Given the description of an element on the screen output the (x, y) to click on. 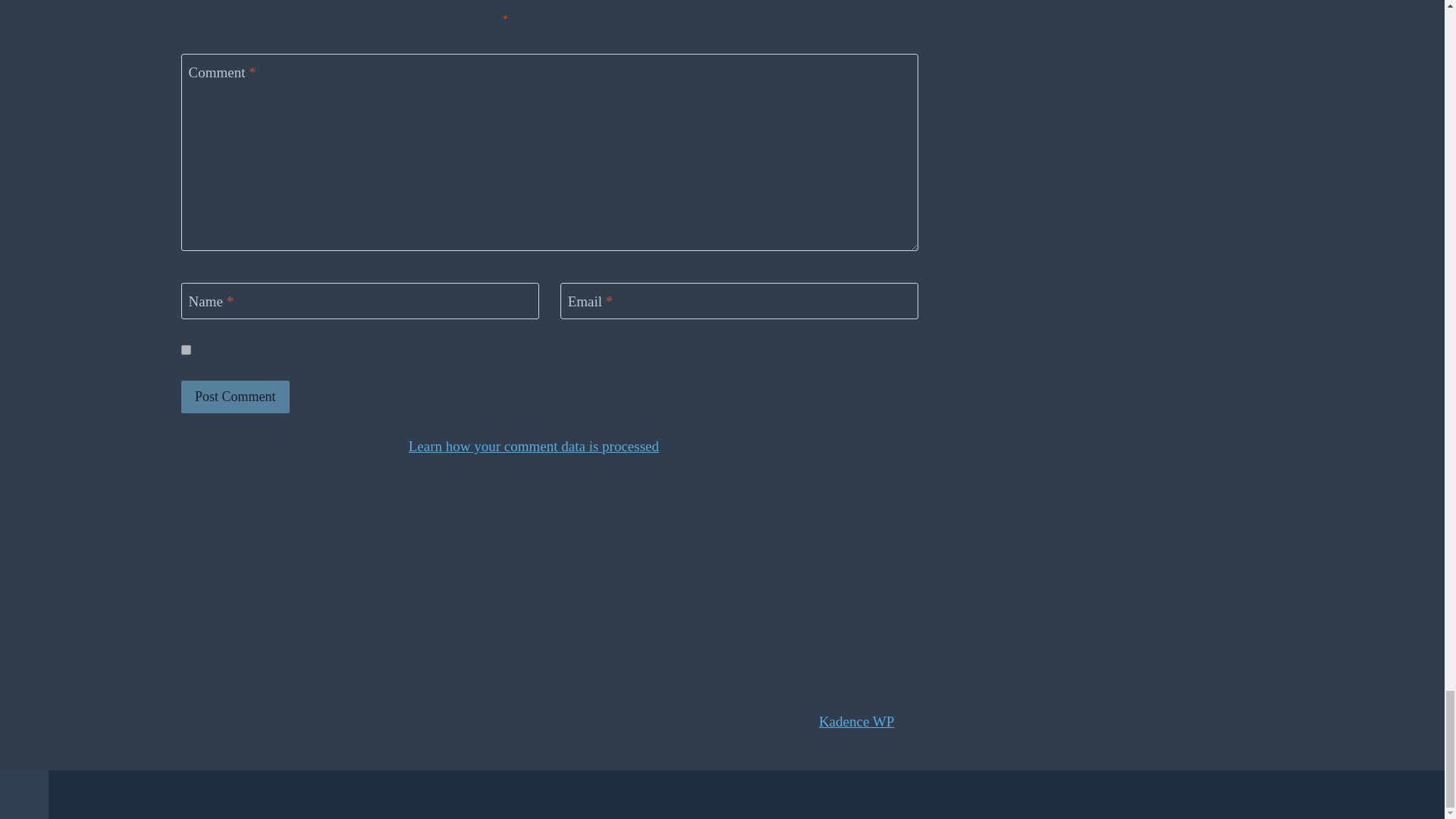
yes (185, 349)
Post Comment (234, 396)
